Given the description of an element on the screen output the (x, y) to click on. 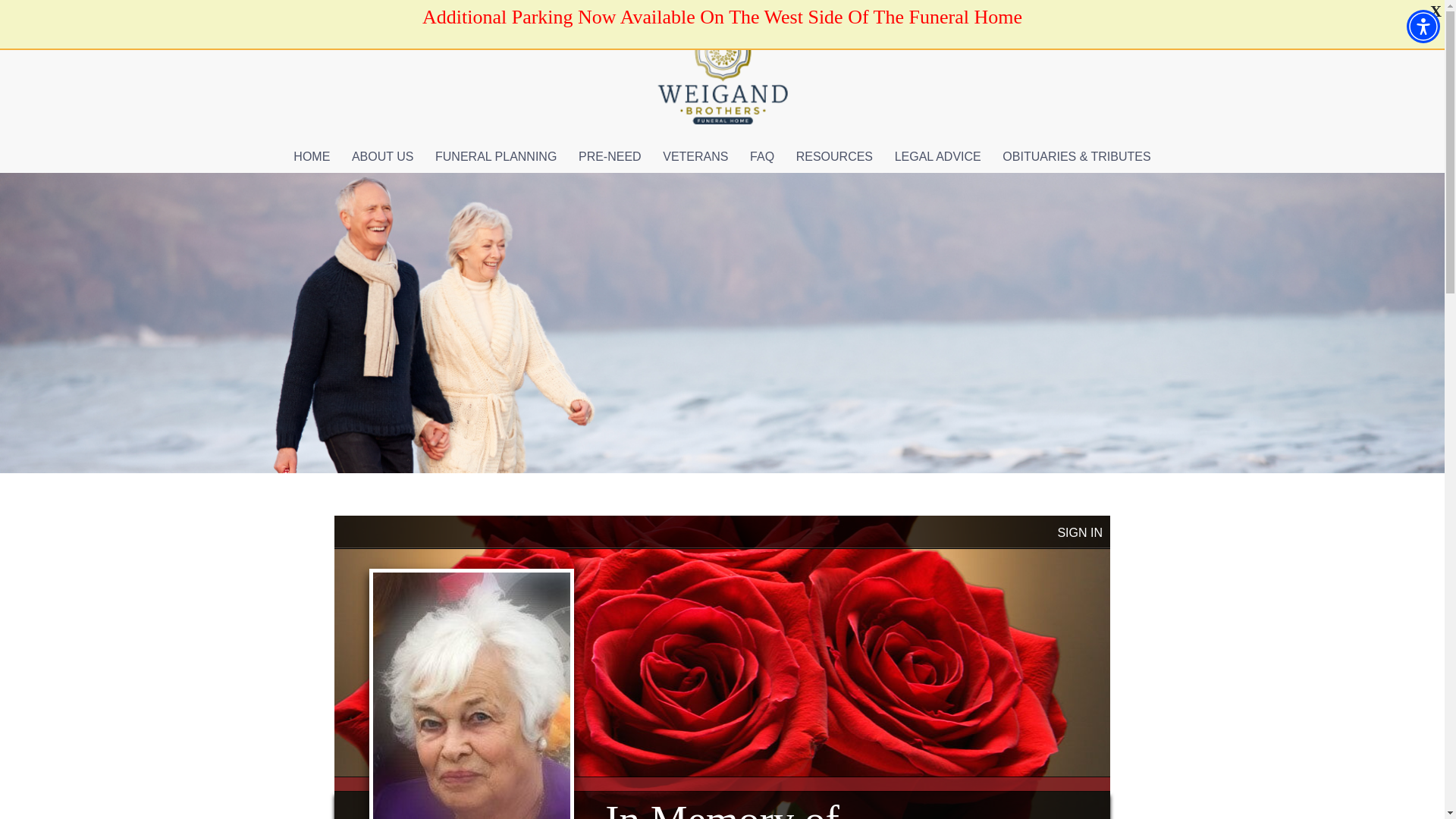
FUNERAL PLANNING (496, 155)
SIGN IN (1079, 532)
HOME (311, 155)
ABOUT US (382, 155)
LEGAL ADVICE (937, 155)
FAQ (762, 155)
PRE-NEED (609, 155)
RESOURCES (833, 155)
VETERANS (694, 155)
Accessibility Menu (1422, 26)
